Given the description of an element on the screen output the (x, y) to click on. 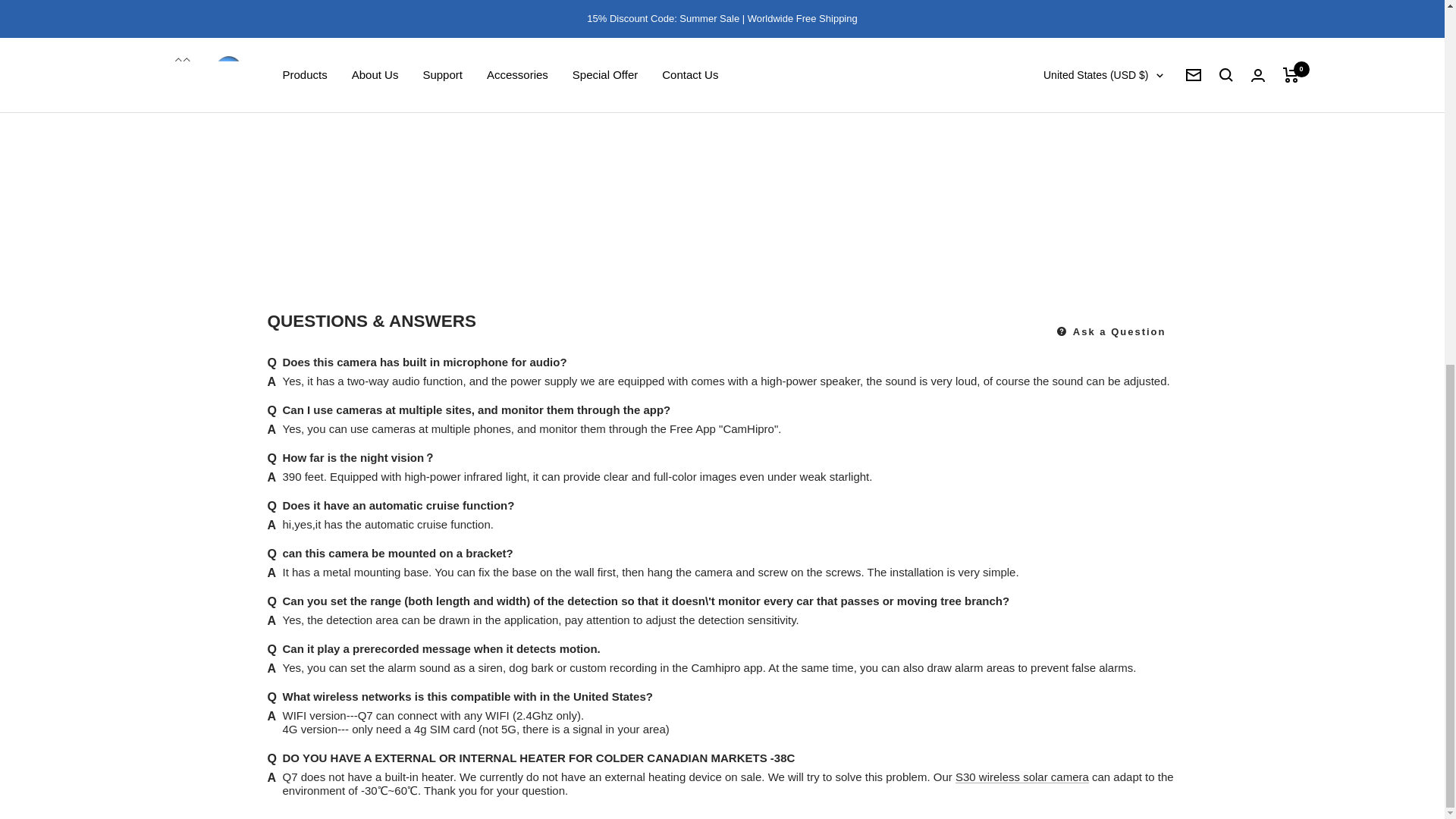
BT (1043, 73)
BA (1043, 123)
BJ (1043, 23)
BO (1043, 98)
BW (1043, 148)
BZ (1043, 4)
BM (1043, 48)
